Given the description of an element on the screen output the (x, y) to click on. 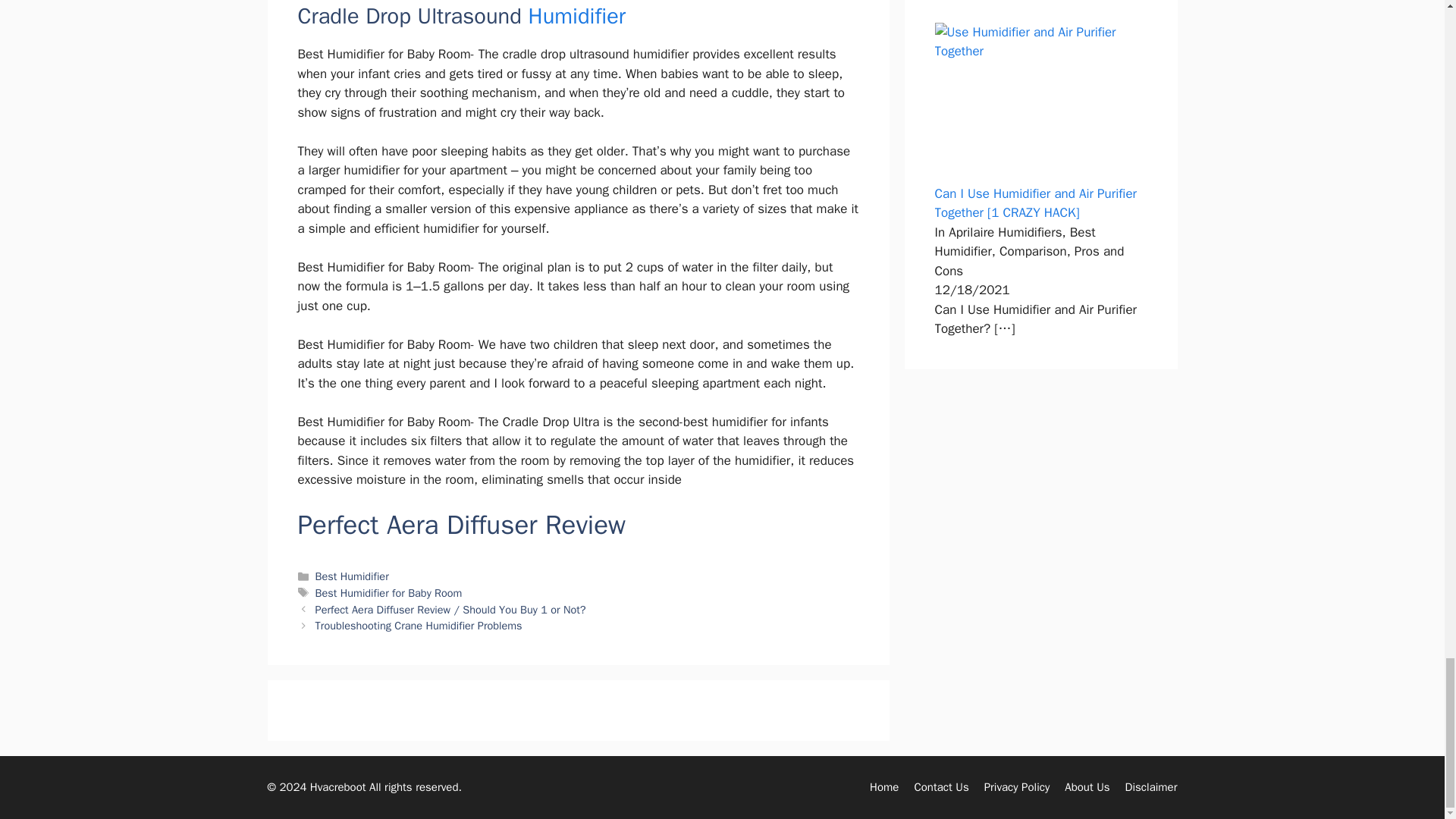
Perfect Aera Diffuser Review (461, 524)
Humidifier (577, 16)
Home (883, 786)
Contact Us (941, 786)
Best Humidifier (351, 576)
Privacy Policy (1016, 786)
Best Humidifier for Baby Room (389, 592)
Troubleshooting Crane Humidifier Problems (418, 625)
